Given the description of an element on the screen output the (x, y) to click on. 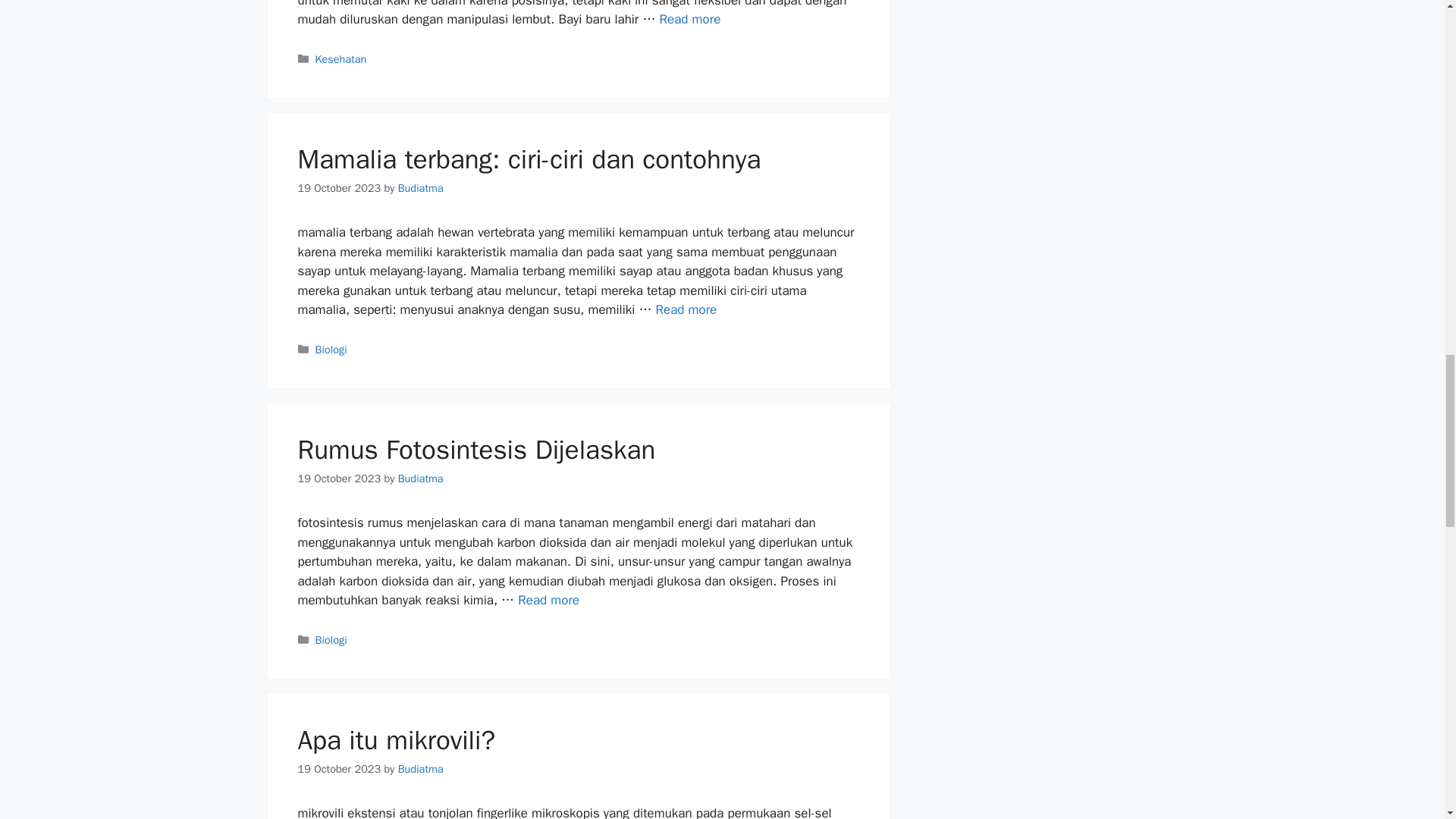
View all posts by Budiatma (420, 187)
Budiatma (420, 187)
Foto Bayi dengan Kaki Pengkor (689, 19)
View all posts by Budiatma (420, 768)
Read more (689, 19)
Read more (685, 309)
Kesehatan (340, 59)
Rumus Fotosintesis Dijelaskan (548, 600)
Mamalia terbang: ciri-ciri dan contohnya (528, 159)
View all posts by Budiatma (420, 478)
Mamalia terbang: ciri-ciri dan contohnya (685, 309)
